Given the description of an element on the screen output the (x, y) to click on. 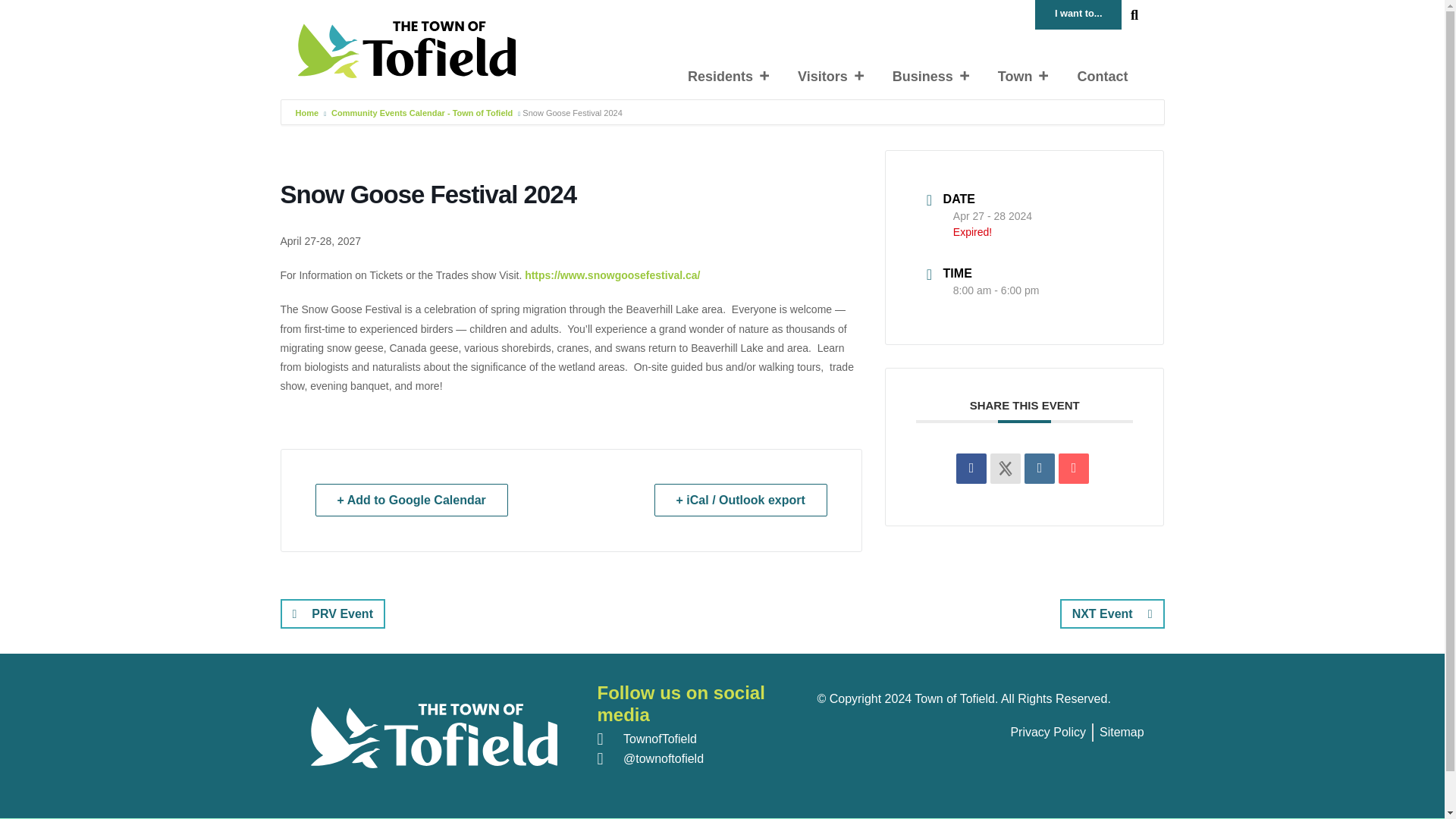
Email (1073, 468)
X Social Network (1005, 468)
I want to... (1078, 14)
Linkedin (1039, 468)
Share on Facebook (971, 468)
